Given the description of an element on the screen output the (x, y) to click on. 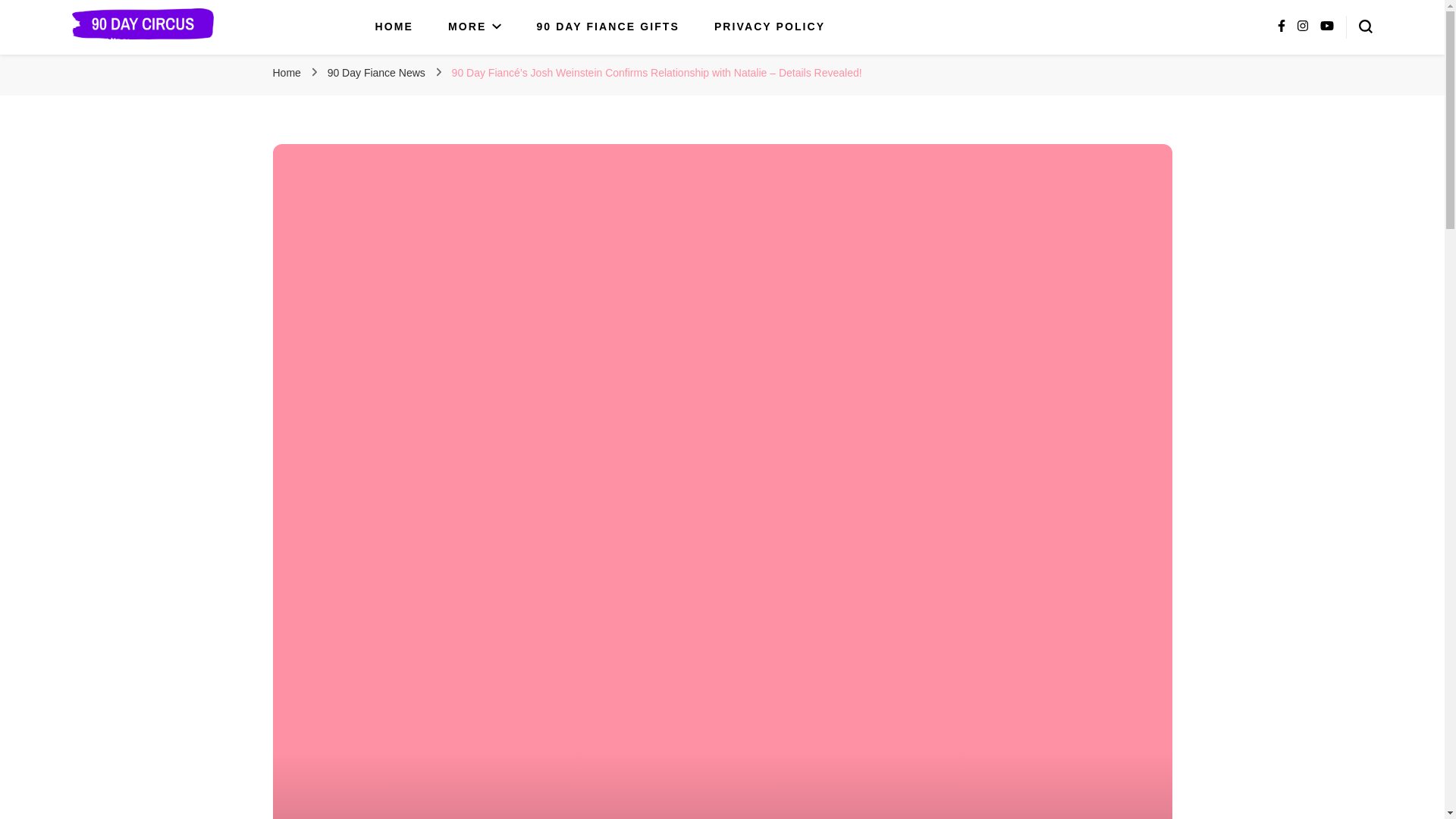
MORE (474, 26)
PRIVACY POLICY (769, 26)
90 DAY FIANCE GIFTS (607, 26)
Home (287, 72)
90 Day Circus (153, 61)
90 Day Fiance News (377, 72)
HOME (394, 26)
